Given the description of an element on the screen output the (x, y) to click on. 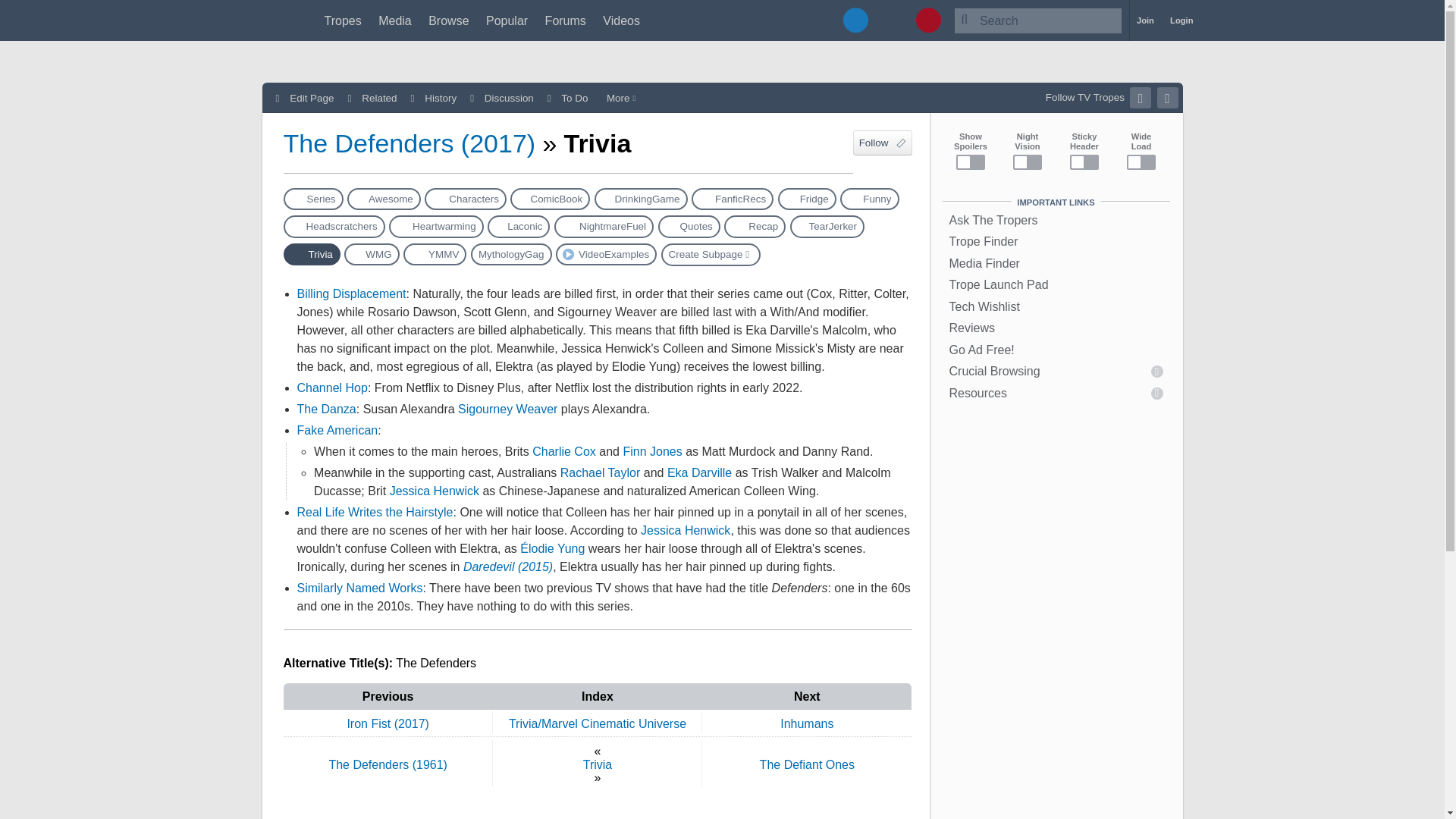
Browse (448, 20)
Forums (565, 20)
Videos (621, 20)
The Funny page (869, 198)
The Laconic page (518, 226)
The Heartwarming page (435, 226)
Login (1181, 20)
Media (395, 20)
The TearJerker page (827, 226)
The DrinkingGame page (640, 198)
The Awesome page (383, 198)
The WMG page (370, 254)
The YMMV page (434, 254)
The NightmareFuel page (603, 226)
The FanficRecs page (732, 198)
